Given the description of an element on the screen output the (x, y) to click on. 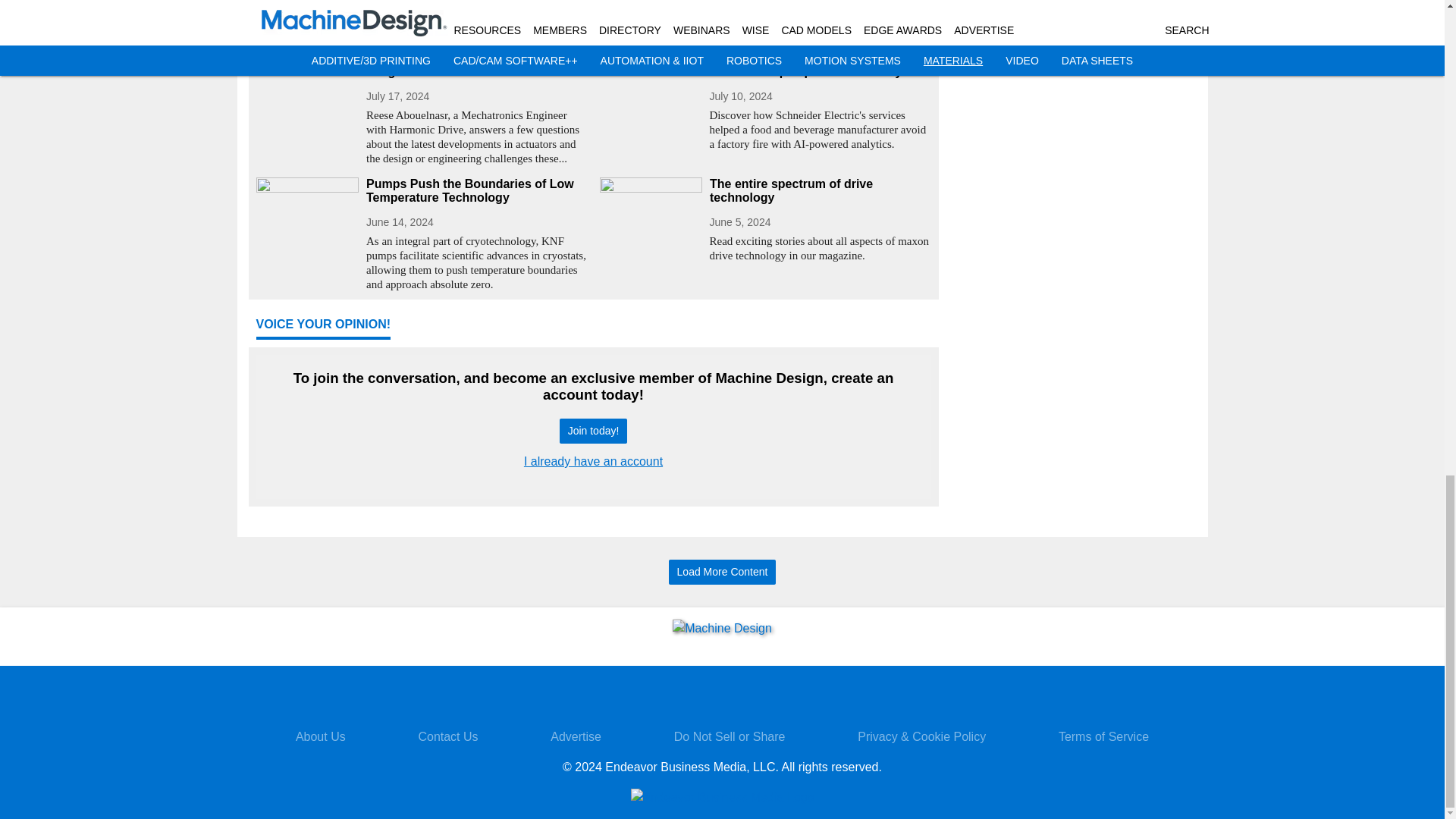
How to Build Better Robotics with Integrated Actuators (476, 64)
Pumps Push the Boundaries of Low Temperature Technology (476, 190)
